Given the description of an element on the screen output the (x, y) to click on. 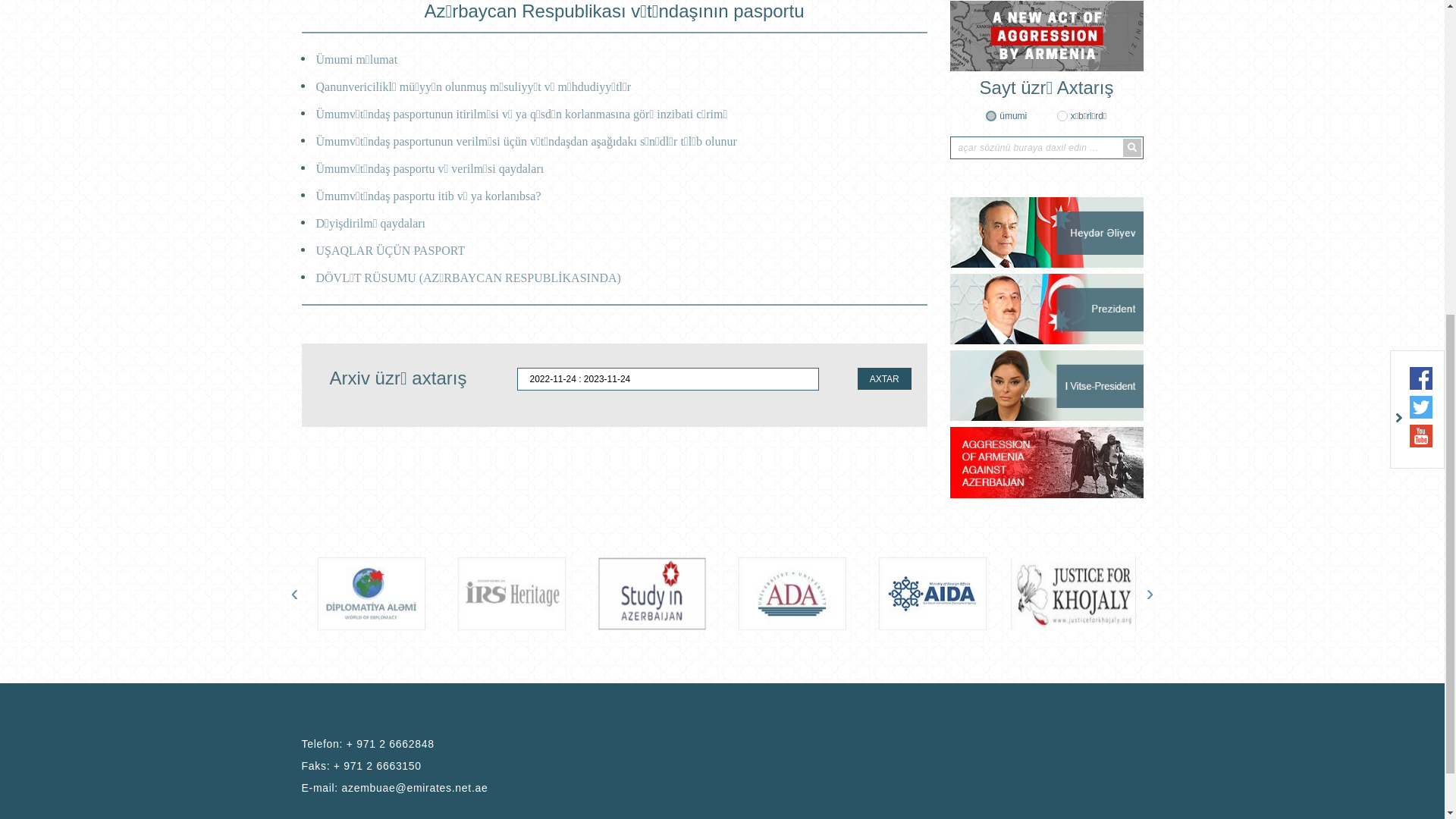
AZ Element type: text (1109, 103)
EN Element type: text (1132, 103)
